Given the description of an element on the screen output the (x, y) to click on. 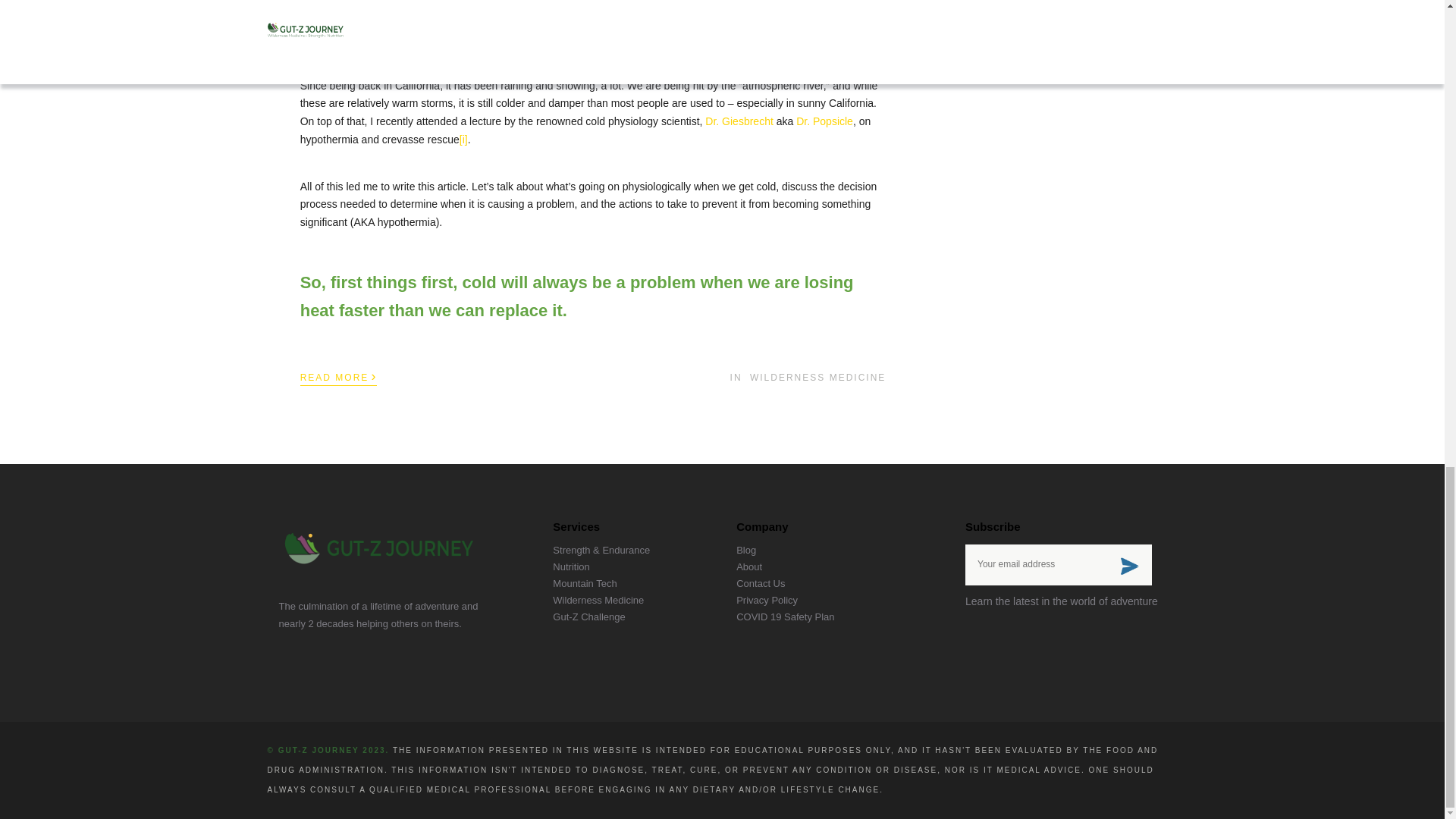
WILDERNESS MEDICINE (817, 377)
Antarctica (743, 67)
Dr. Popsicle (824, 121)
Dr. Giesbrecht (738, 121)
